Given the description of an element on the screen output the (x, y) to click on. 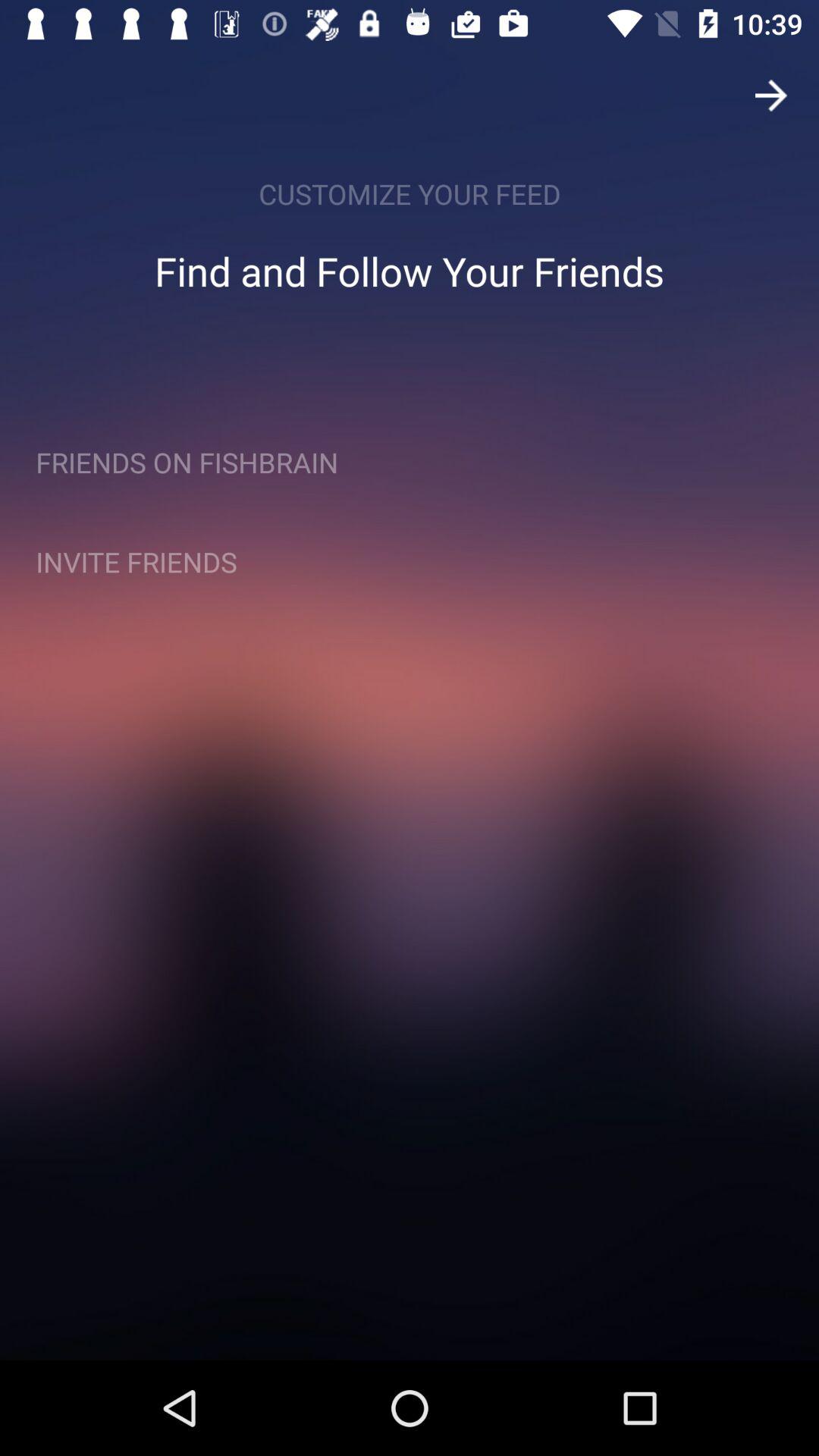
go forward (771, 95)
